Given the description of an element on the screen output the (x, y) to click on. 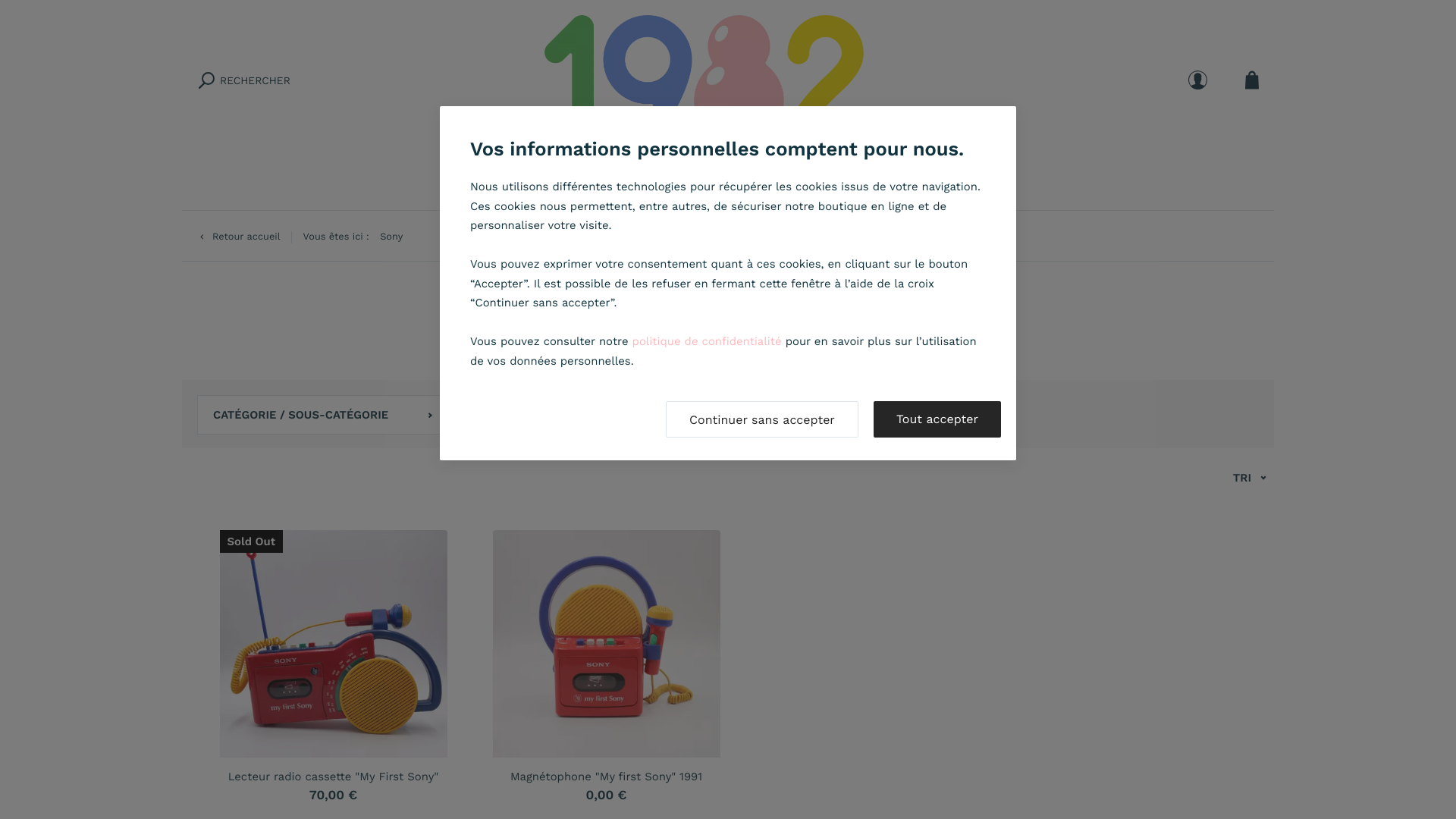
Continuer sans accepter Element type: text (761, 419)
Maison Element type: text (717, 185)
keyboard_arrow_left
Retour accueil Element type: text (238, 237)
1982leshop Element type: hover (727, 80)
Mode & Accessoires Element type: text (832, 185)
Jouets Element type: text (551, 185)
Tout accepter Element type: text (937, 419)
